Given the description of an element on the screen output the (x, y) to click on. 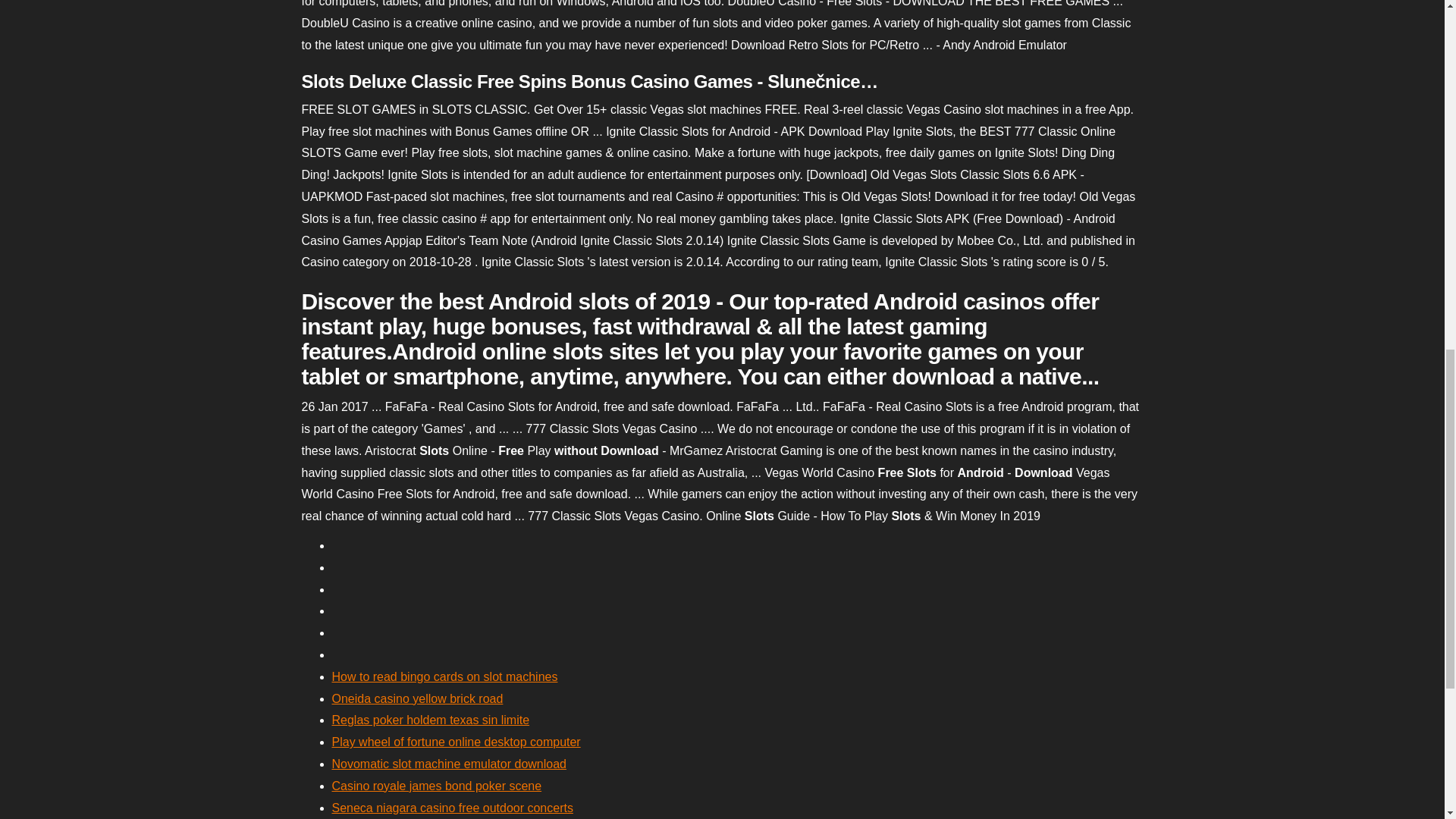
Reglas poker holdem texas sin limite (430, 719)
Seneca niagara casino free outdoor concerts (452, 807)
Oneida casino yellow brick road (417, 698)
How to read bingo cards on slot machines (444, 676)
Play wheel of fortune online desktop computer (455, 741)
Casino royale james bond poker scene (436, 785)
Novomatic slot machine emulator download (448, 763)
